Given the description of an element on the screen output the (x, y) to click on. 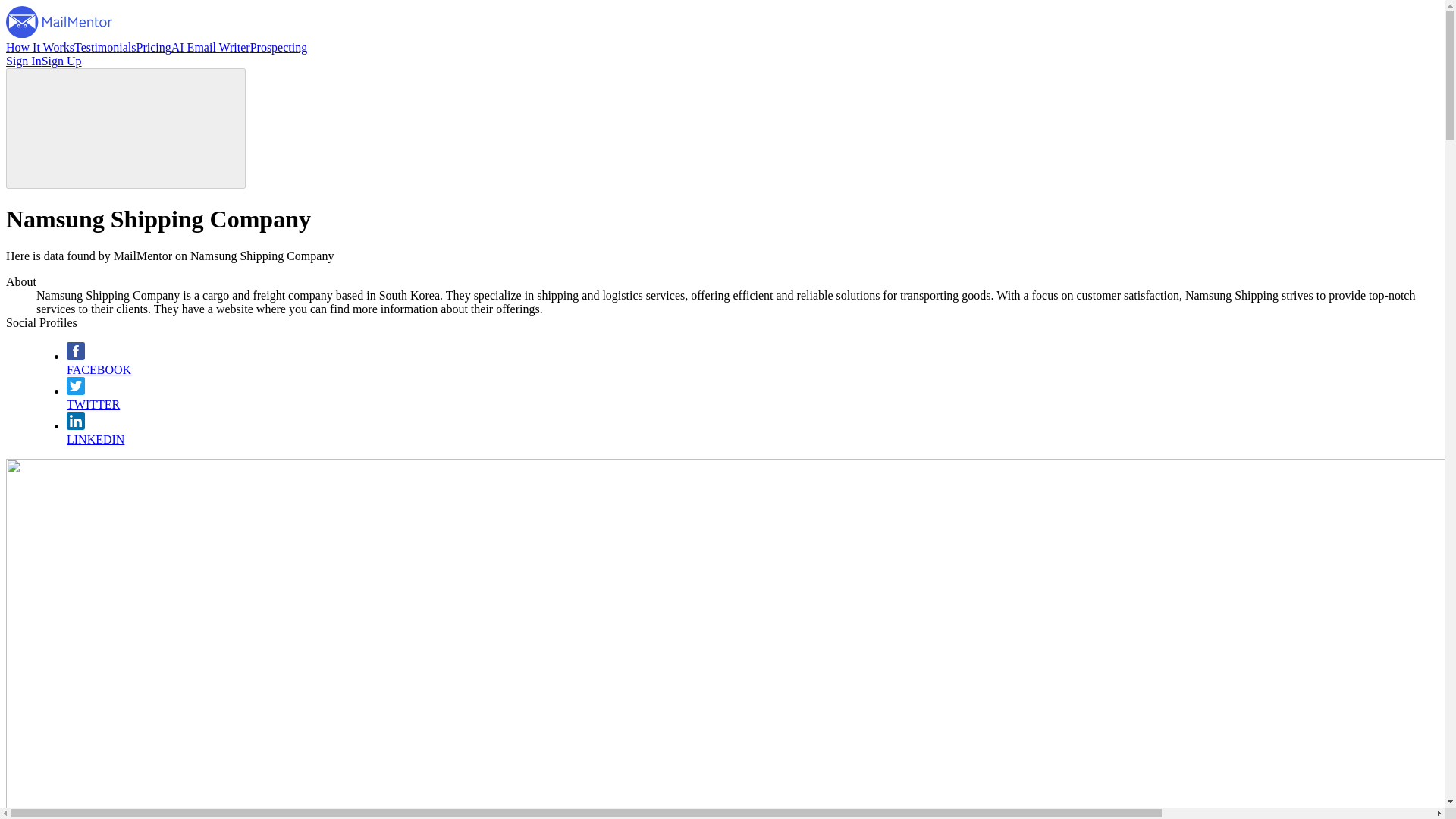
Testimonials (105, 47)
How It Works (39, 47)
Prospecting (278, 47)
facebook (75, 355)
linkedin (75, 425)
twitter (75, 390)
Pricing (153, 47)
Sign Up (61, 60)
